Given the description of an element on the screen output the (x, y) to click on. 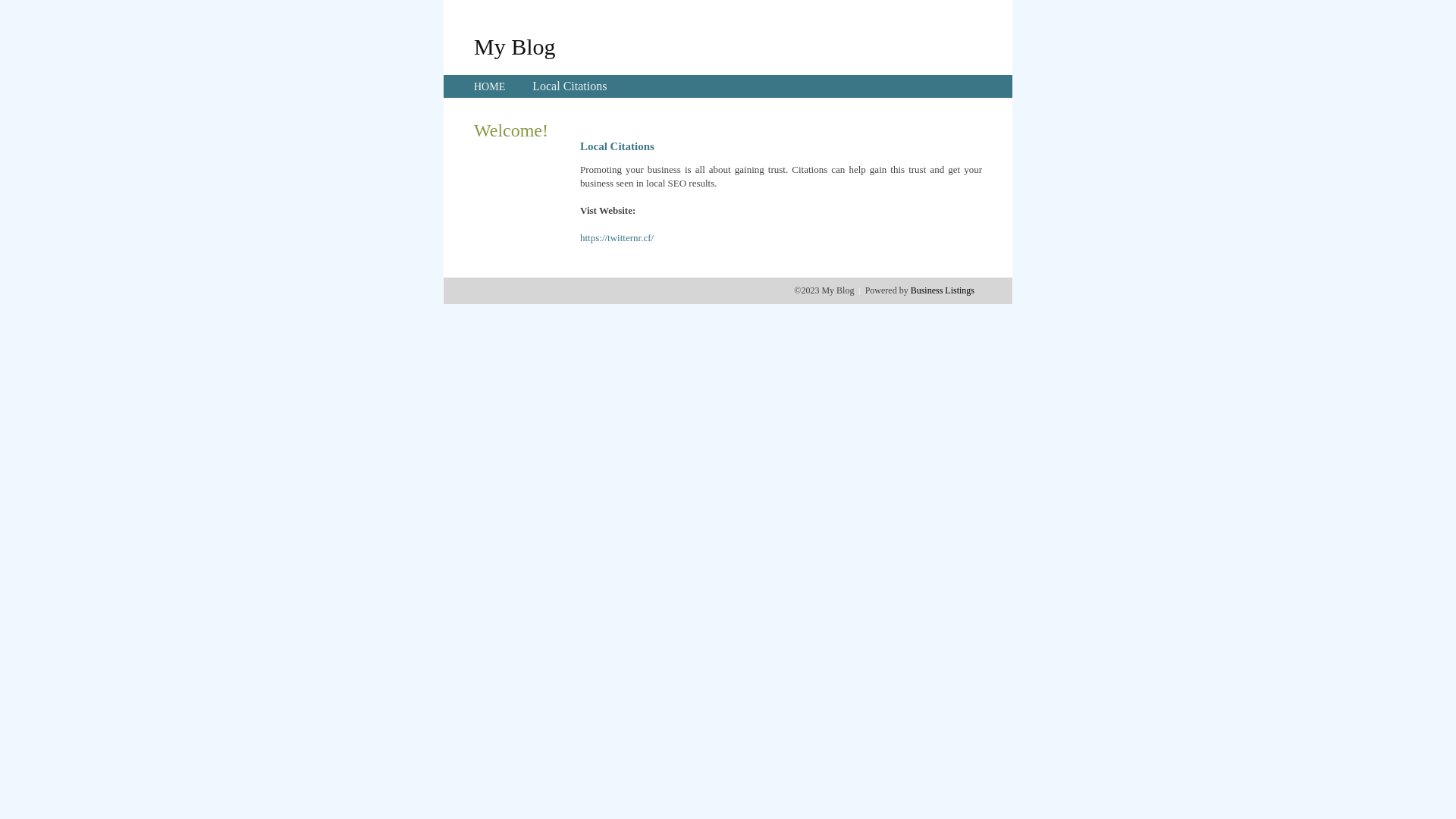
HOME Element type: text (489, 86)
My Blog Element type: text (514, 46)
Business Listings Element type: text (942, 290)
https://twitternr.cf/ Element type: text (616, 237)
Local Citations Element type: text (569, 85)
